Given the description of an element on the screen output the (x, y) to click on. 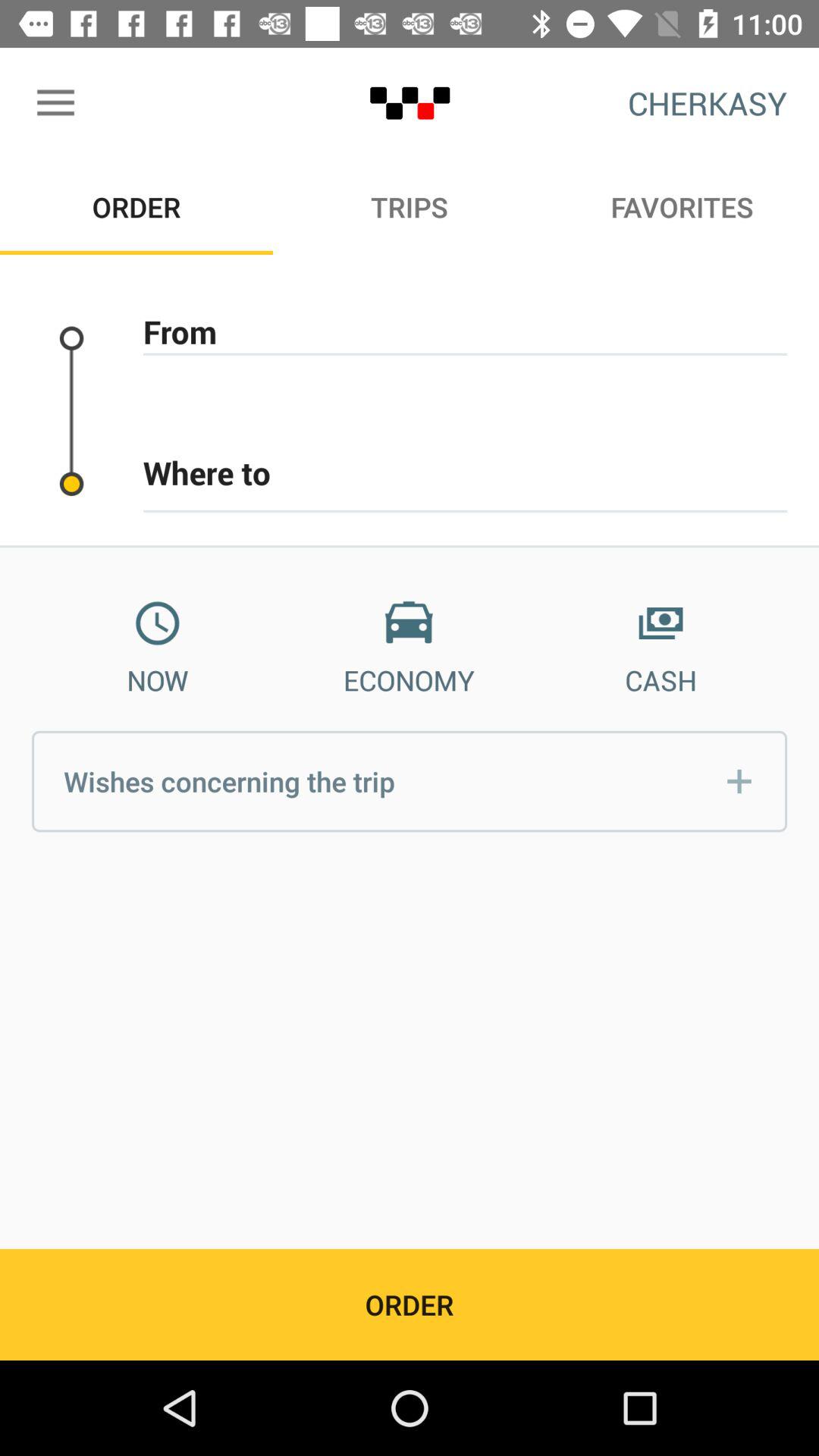
click the icon above order (55, 103)
